Given the description of an element on the screen output the (x, y) to click on. 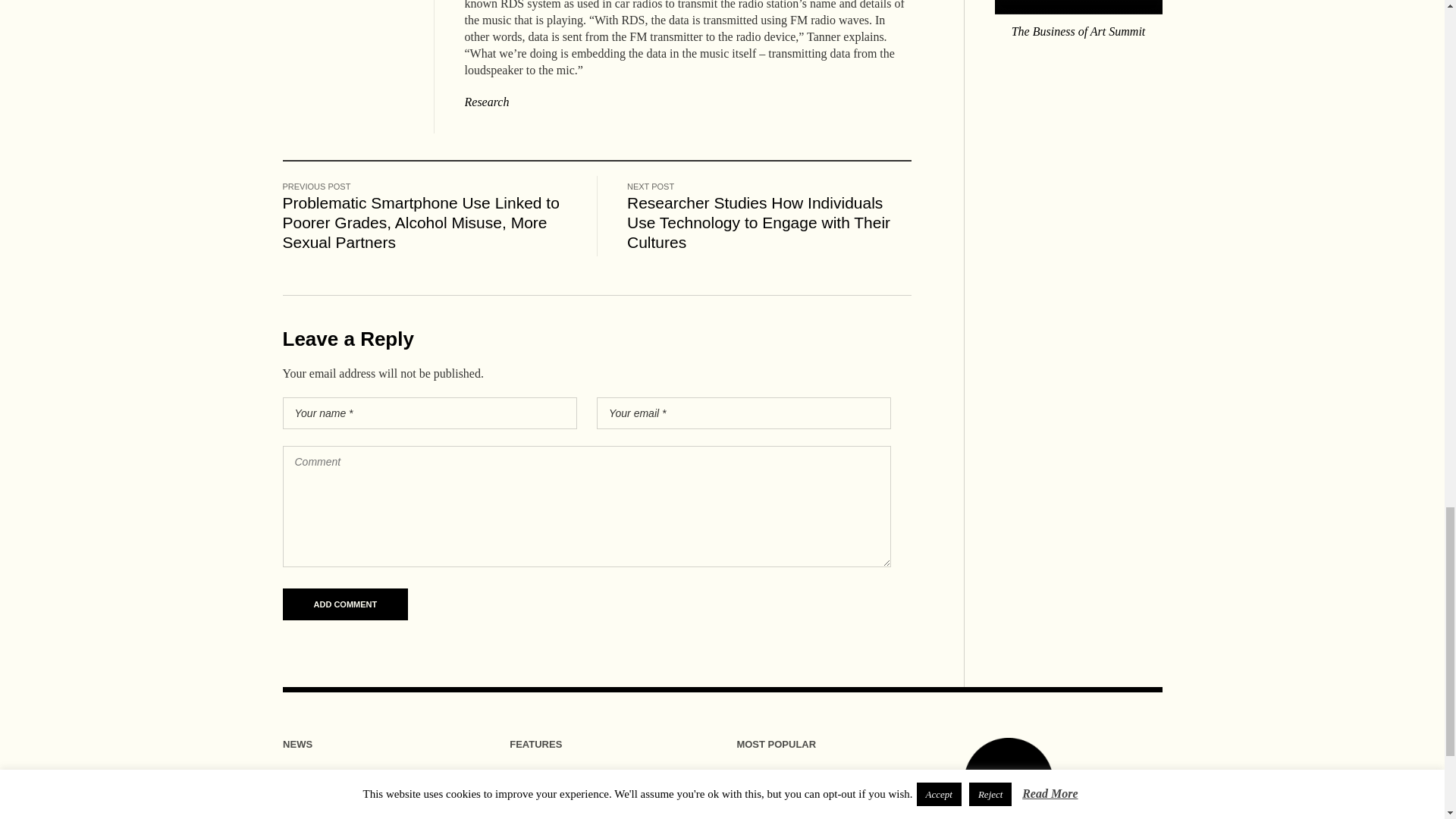
Add Comment (344, 603)
Add Comment (344, 603)
Research (486, 101)
